Given the description of an element on the screen output the (x, y) to click on. 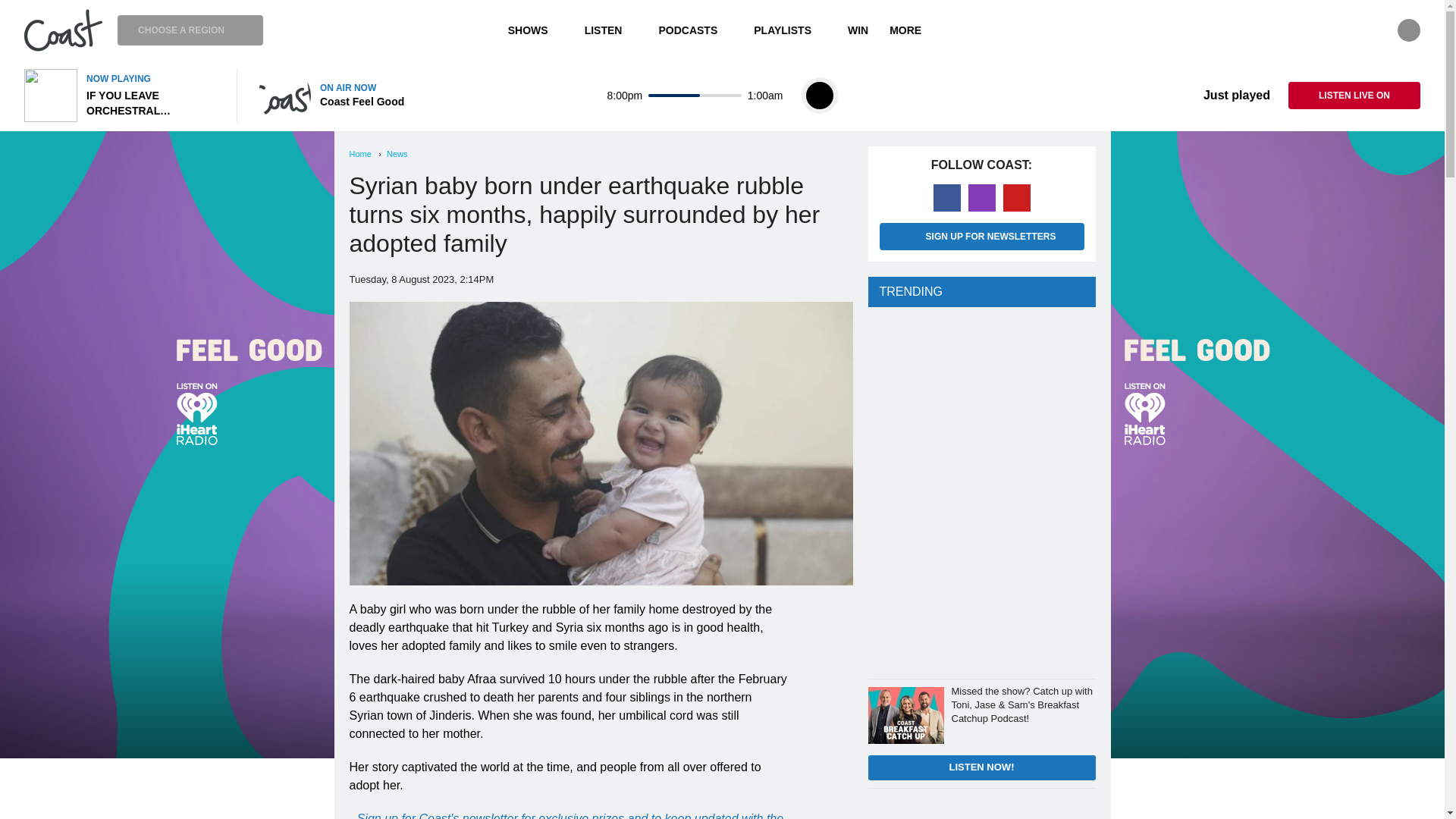
Listen to IF YOU LEAVE by ORCHESTRAL MANOEUVRES IN THE DARK (121, 95)
Coast (62, 29)
LISTEN (610, 30)
SHOWS (535, 30)
CHOOSE A REGION (190, 30)
Just played (1225, 95)
